Given the description of an element on the screen output the (x, y) to click on. 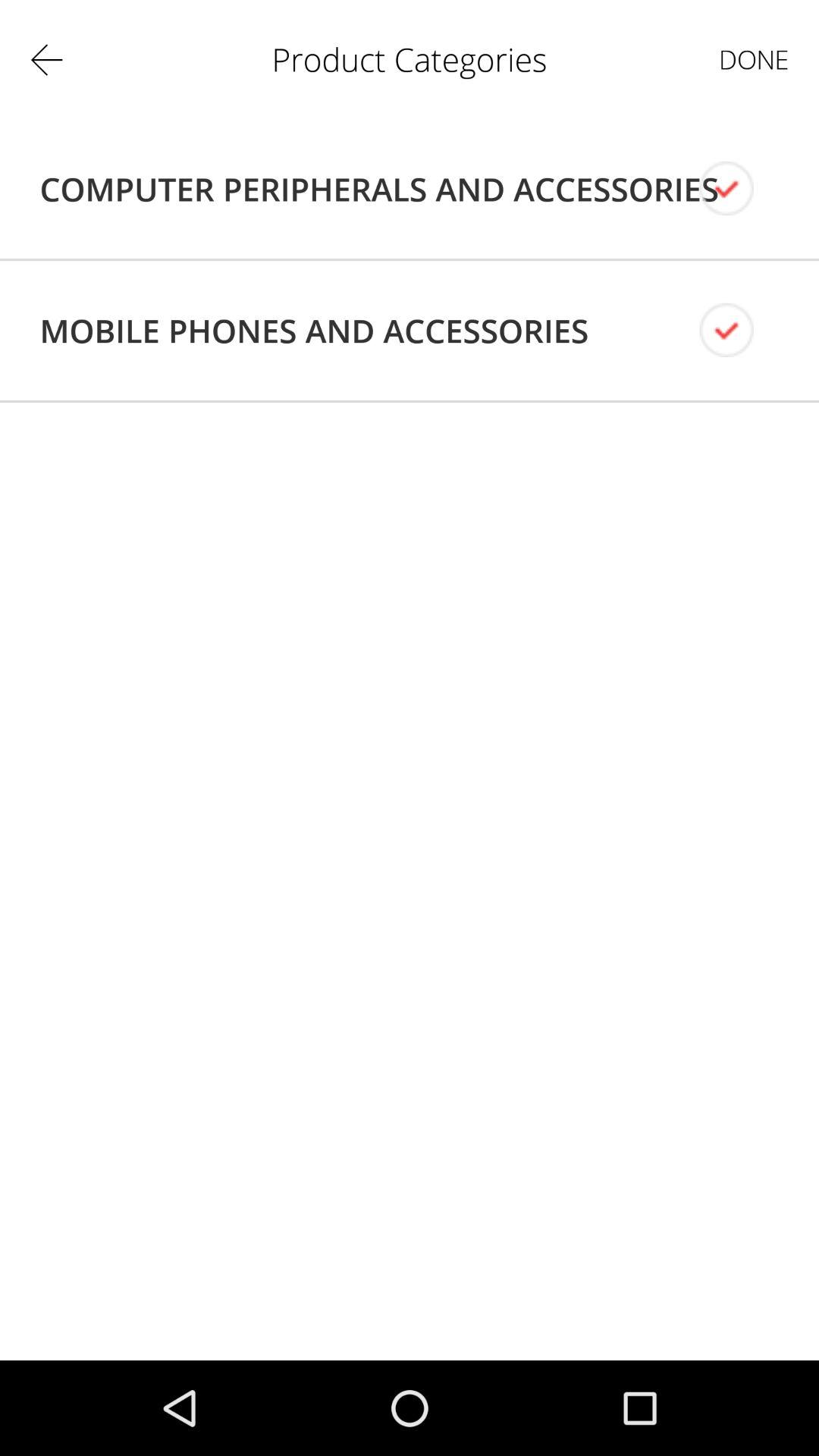
launch computer peripherals and icon (378, 188)
